Given the description of an element on the screen output the (x, y) to click on. 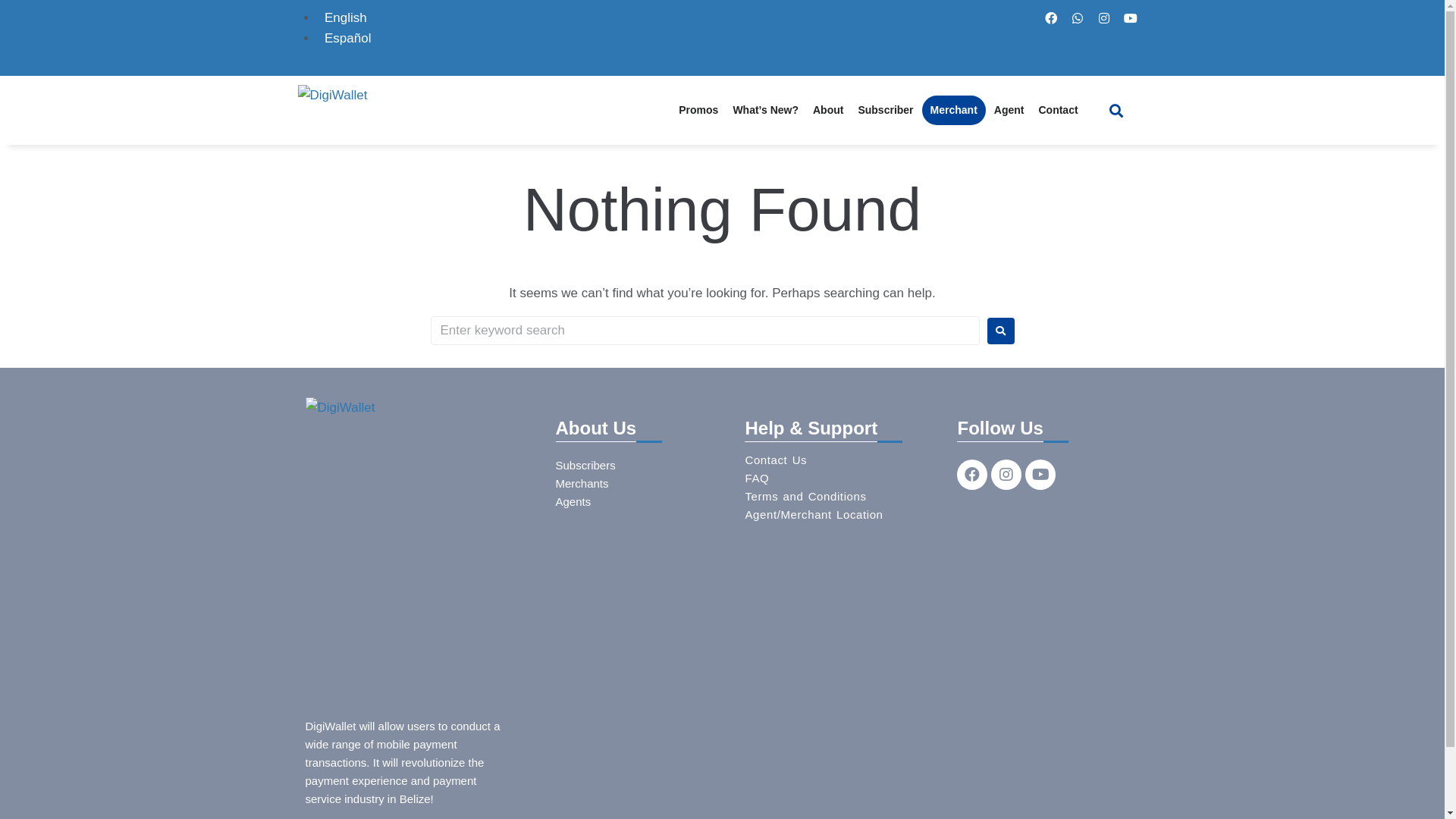
Merchants Element type: text (581, 482)
English Element type: text (341, 17)
Contact Us Element type: text (775, 459)
Merchant Element type: text (953, 109)
Contact Element type: text (1057, 109)
Promos Element type: text (698, 109)
Agent/Merchant Location Element type: text (813, 514)
Agents Element type: text (572, 501)
FAQ Element type: text (756, 477)
Agent Element type: text (1009, 109)
Subscribers Element type: text (585, 464)
Terms and Conditions Element type: text (805, 495)
Subscriber Element type: text (885, 109)
About Element type: text (827, 109)
